Given the description of an element on the screen output the (x, y) to click on. 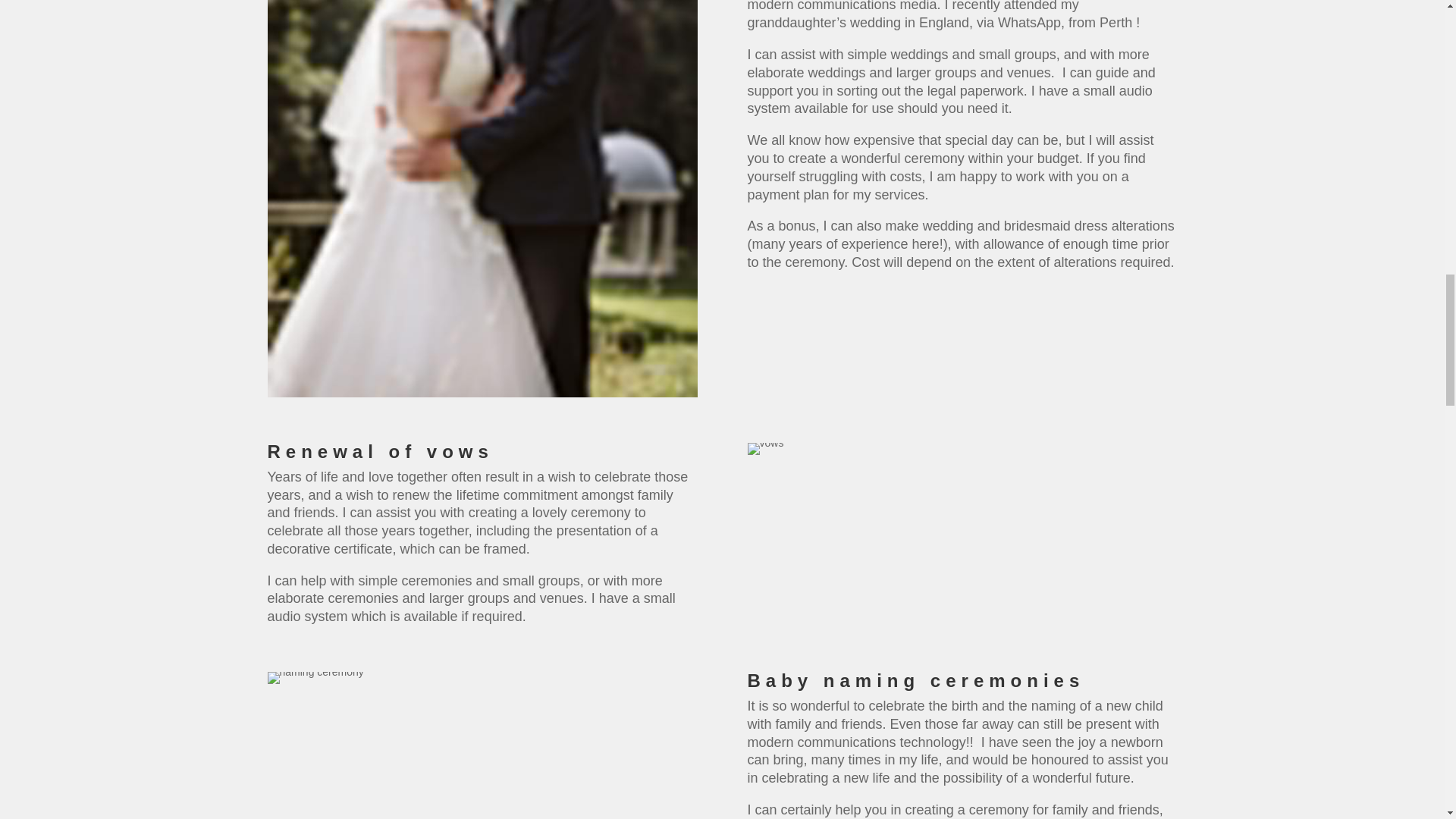
kelly-sikkema-genZFP4itVc-unsplash (314, 677)
vows (766, 449)
